Given the description of an element on the screen output the (x, y) to click on. 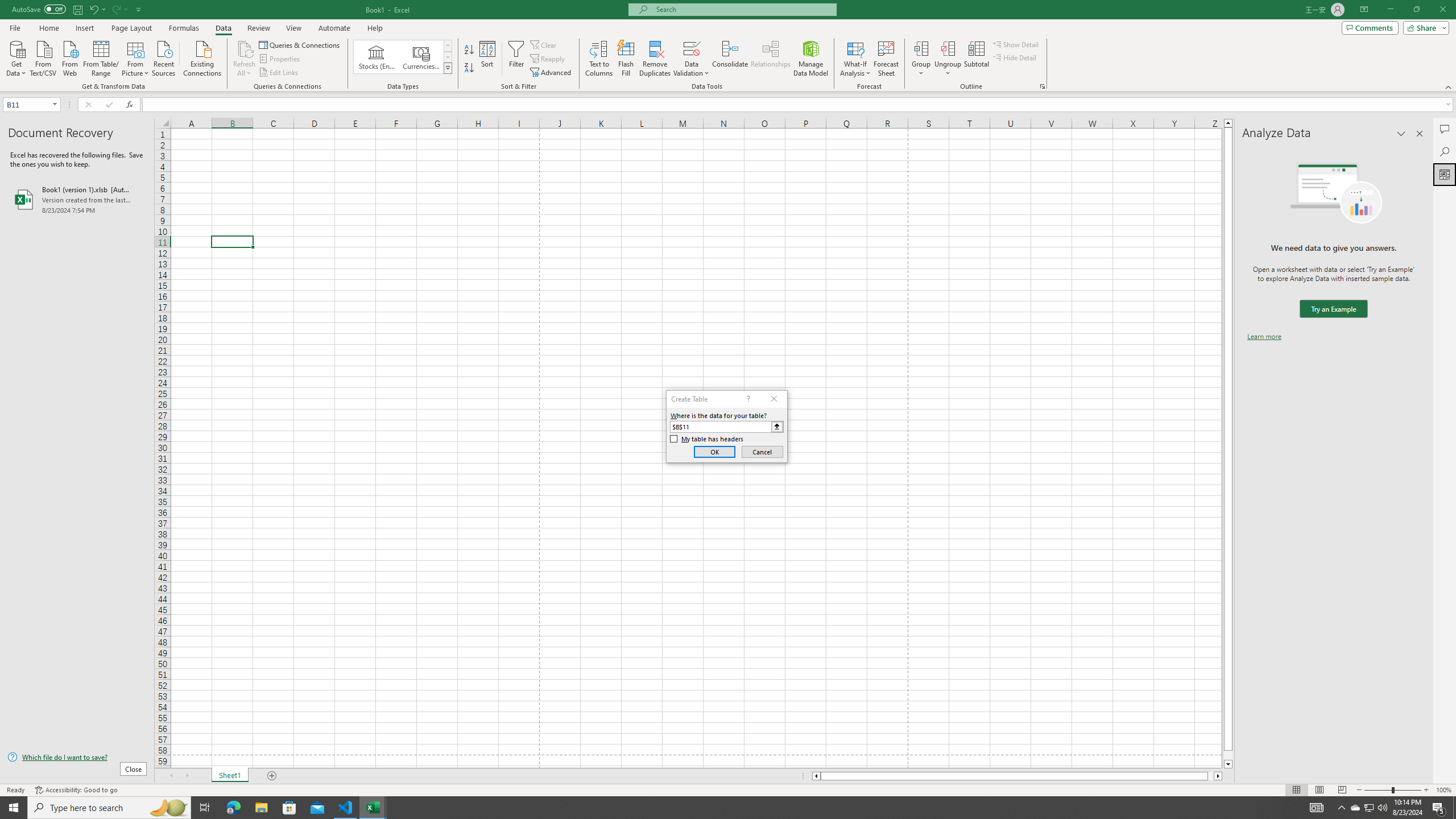
Consolidate... (729, 58)
